Given the description of an element on the screen output the (x, y) to click on. 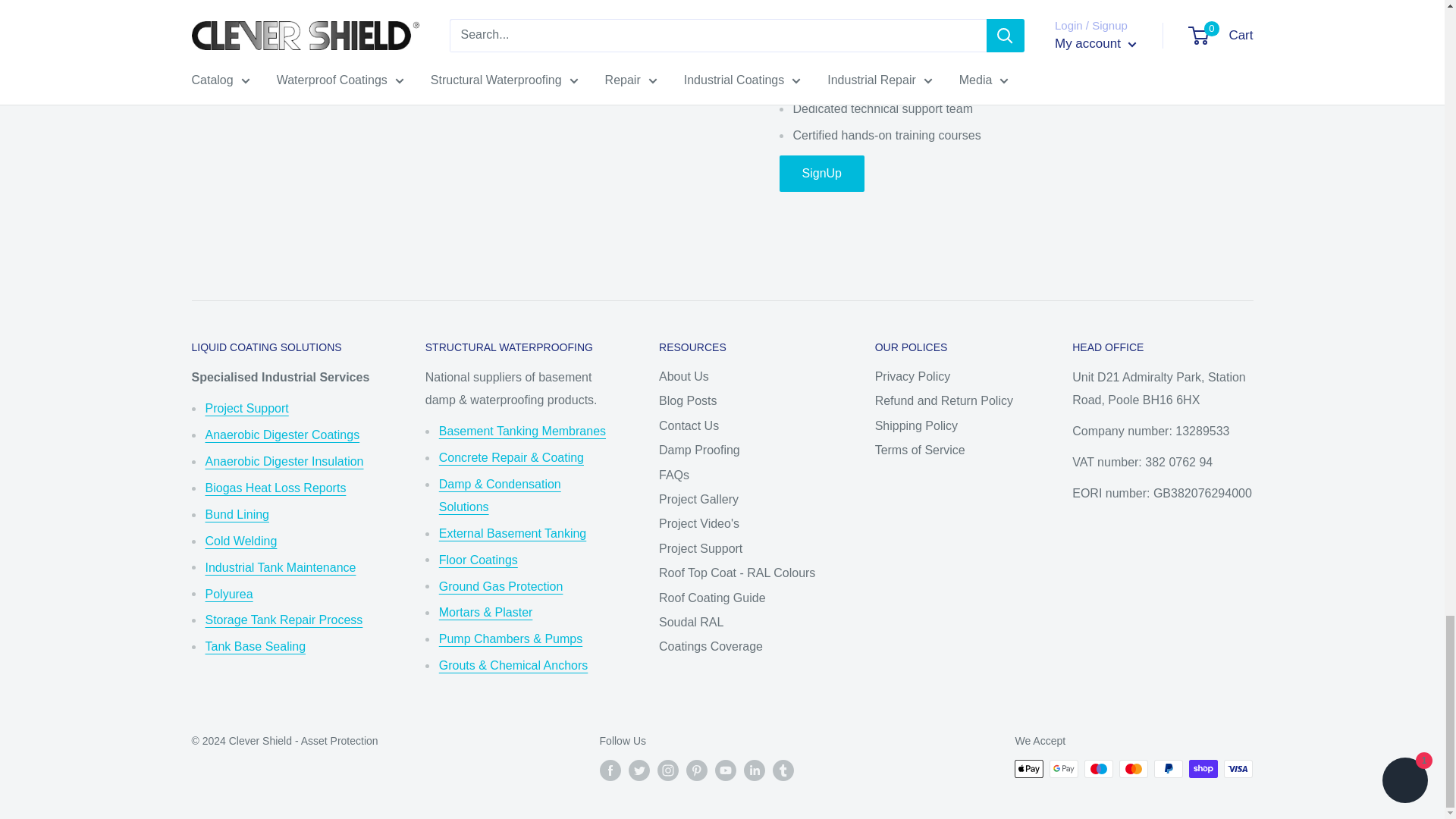
Application (246, 408)
Damp Proofing (499, 495)
Cementitious Waterproofers and Additives (511, 457)
Cavity Drain Membranes (522, 431)
Basement and Cellars Pump, Chambers and Alarms (510, 638)
Gas Barrier Membranes (501, 585)
External Type A Waterproofing (512, 533)
Floor Coating Systems (478, 559)
Mortars and Plasters (485, 612)
